Given the description of an element on the screen output the (x, y) to click on. 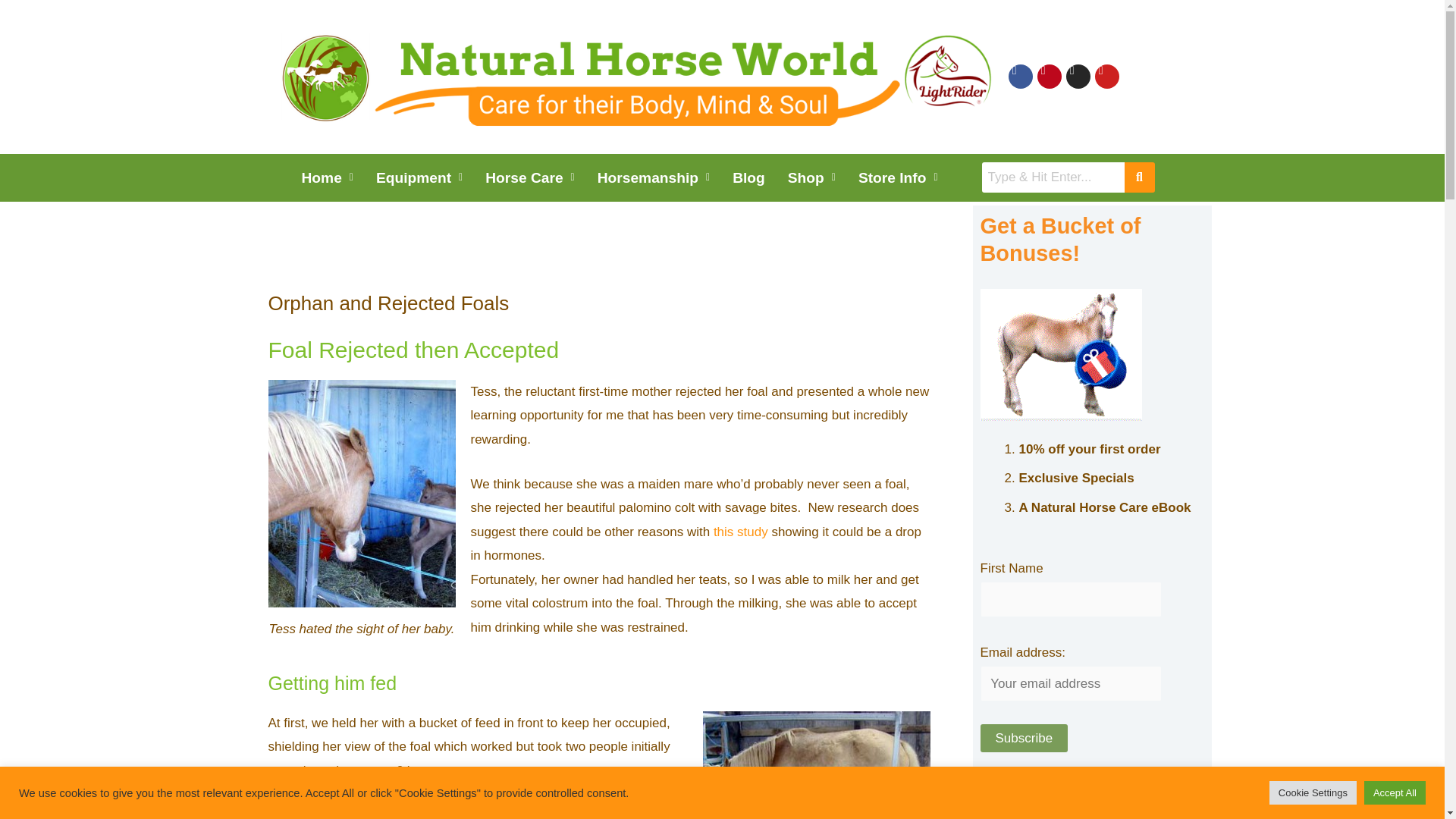
Youtube (1106, 76)
Pinterest (1048, 76)
Horse Care (530, 177)
Home (326, 177)
Subscribe (1023, 737)
Instagram (1077, 76)
Facebook (1020, 76)
Horsemanship (653, 177)
Search (1052, 177)
Equipment (419, 177)
